Given the description of an element on the screen output the (x, y) to click on. 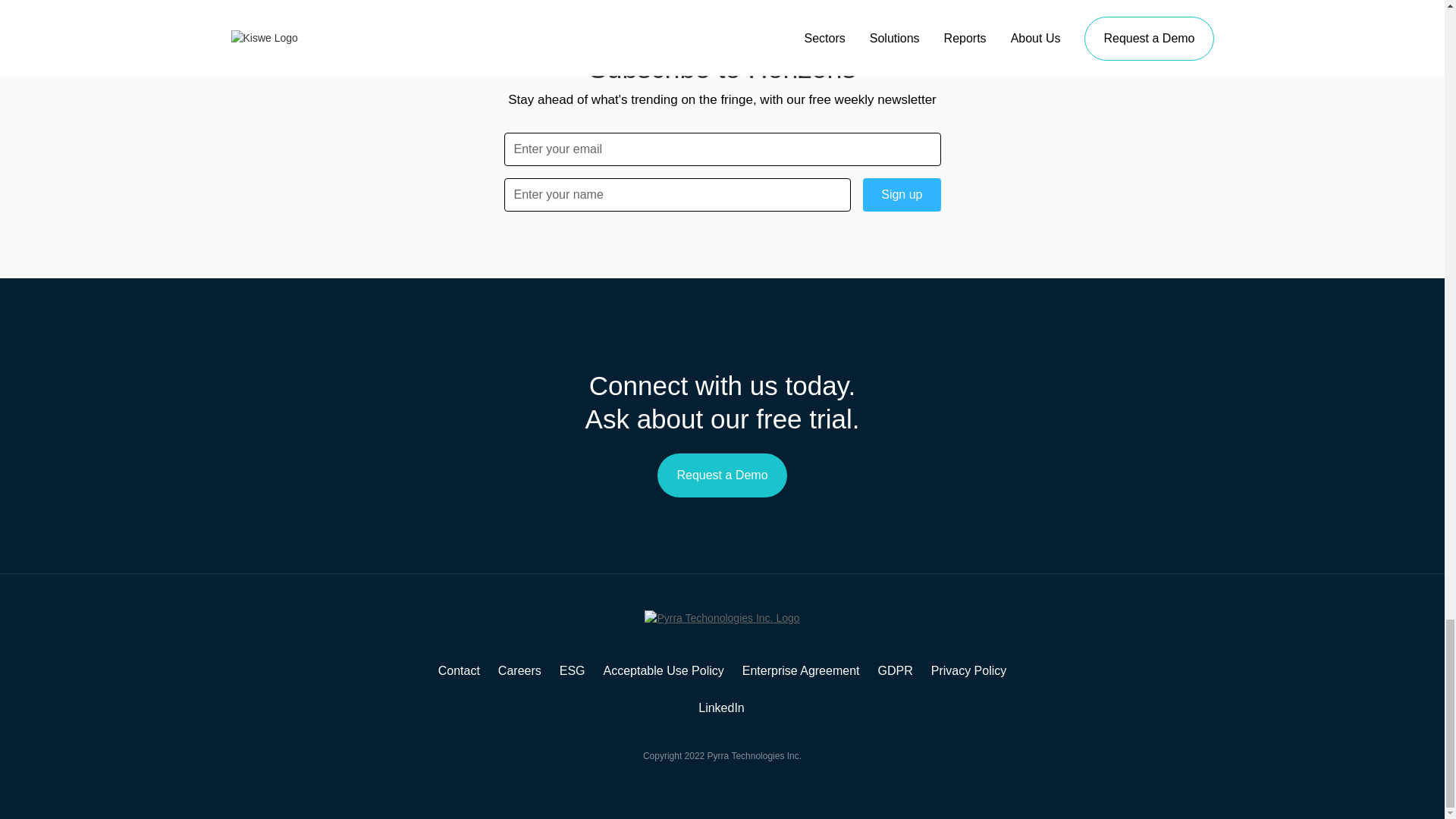
GDPR (894, 670)
Acceptable Use Policy (663, 670)
Careers (519, 670)
Privacy Policy (969, 670)
Sign up (901, 194)
Request a Demo (722, 475)
LinkedIn (721, 708)
ESG (572, 670)
Sign up (901, 194)
Enterprise Agreement (801, 670)
Contact (459, 670)
